Given the description of an element on the screen output the (x, y) to click on. 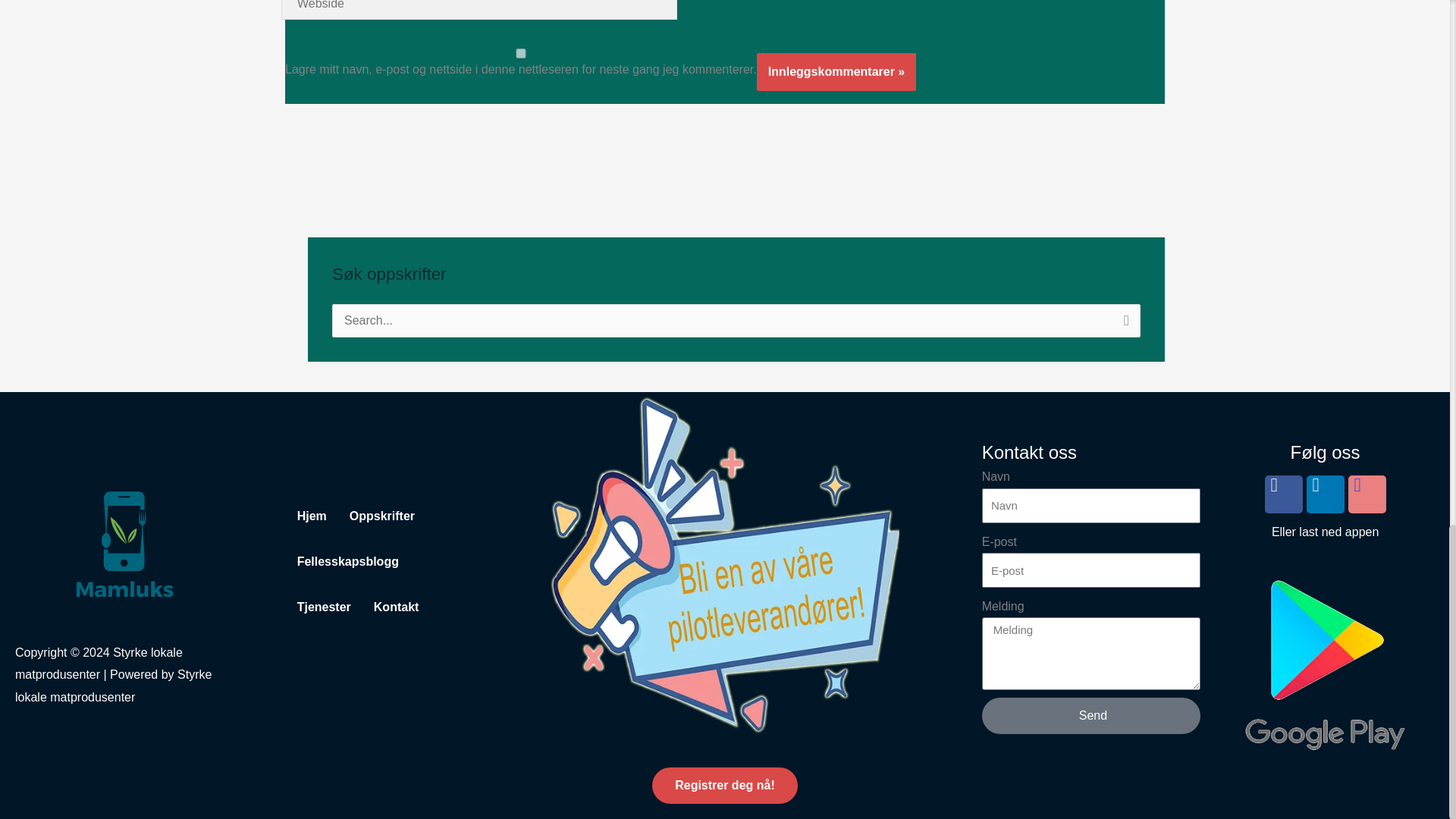
Kontakt (390, 606)
Send (1091, 715)
Hjem (305, 515)
Fellesskapsblogg (341, 561)
Oppskrifter (375, 515)
Linkedin (1324, 494)
yes (521, 53)
Facebook (1284, 494)
Instagram (1367, 494)
Tjenester (317, 606)
